Given the description of an element on the screen output the (x, y) to click on. 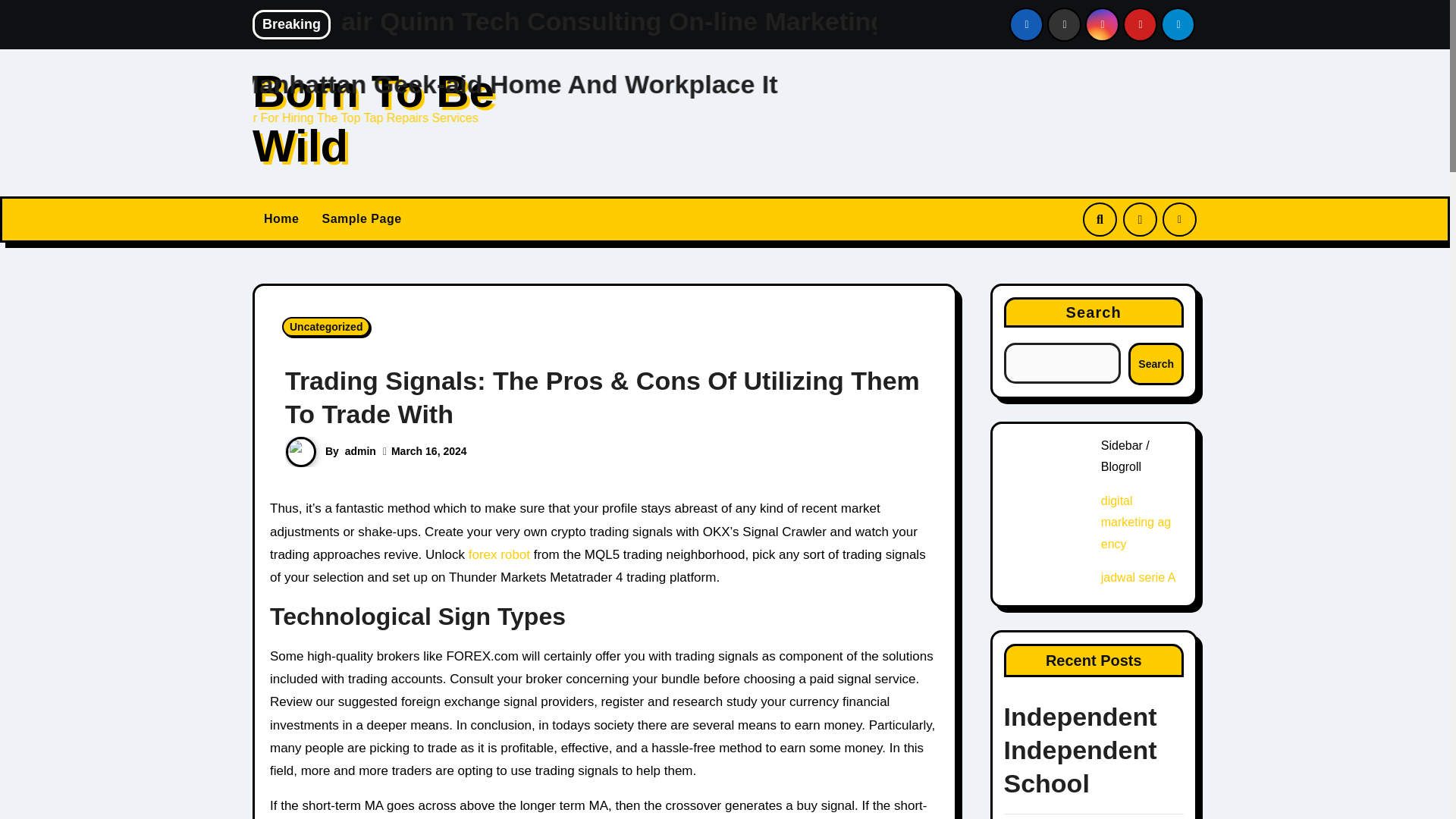
Uncategorized (325, 326)
March 16, 2024 (429, 451)
Born To Be Wild (373, 118)
Home (280, 219)
Home (280, 219)
forex robot (498, 554)
admin (360, 451)
Sample Page (361, 219)
